Given the description of an element on the screen output the (x, y) to click on. 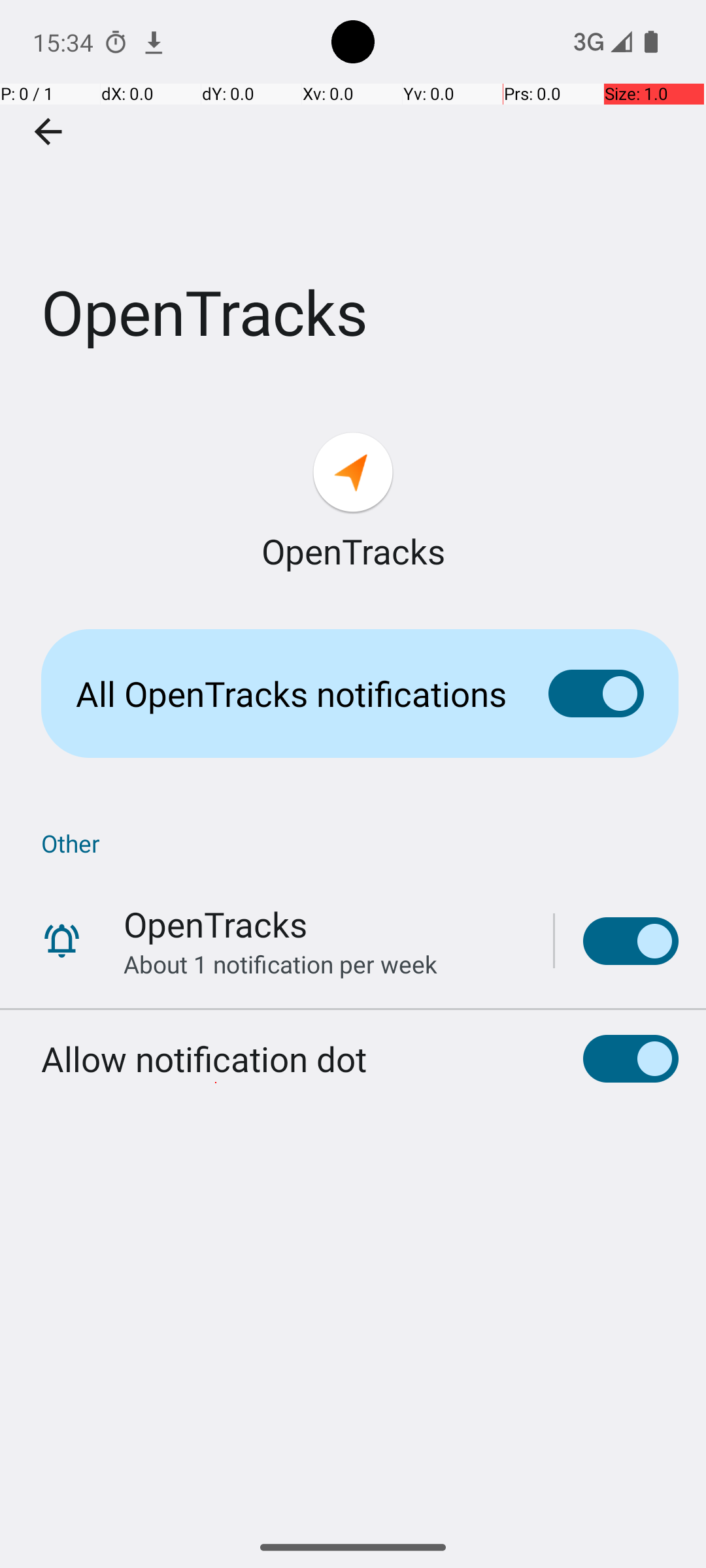
All OpenTracks notifications Element type: android.widget.TextView (291, 693)
About 1 notification per week Element type: android.widget.TextView (280, 963)
